Given the description of an element on the screen output the (x, y) to click on. 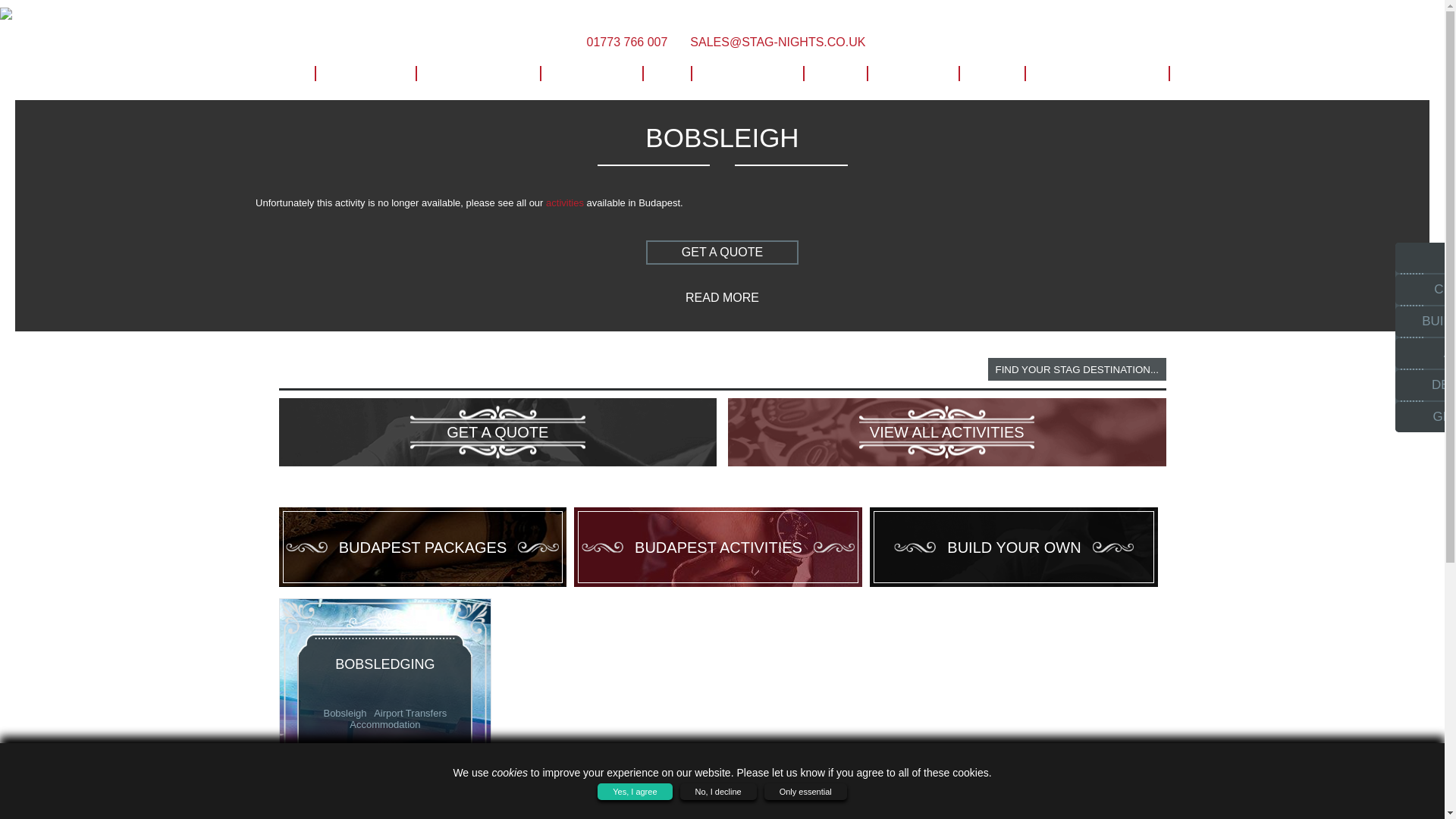
Budapest Packages (423, 546)
EUROPEAN (591, 73)
DESTINATIONS (477, 73)
01773 766 007 (623, 42)
Budapest Activities (717, 546)
HOME (280, 73)
ACTIVITIES (364, 73)
